Given the description of an element on the screen output the (x, y) to click on. 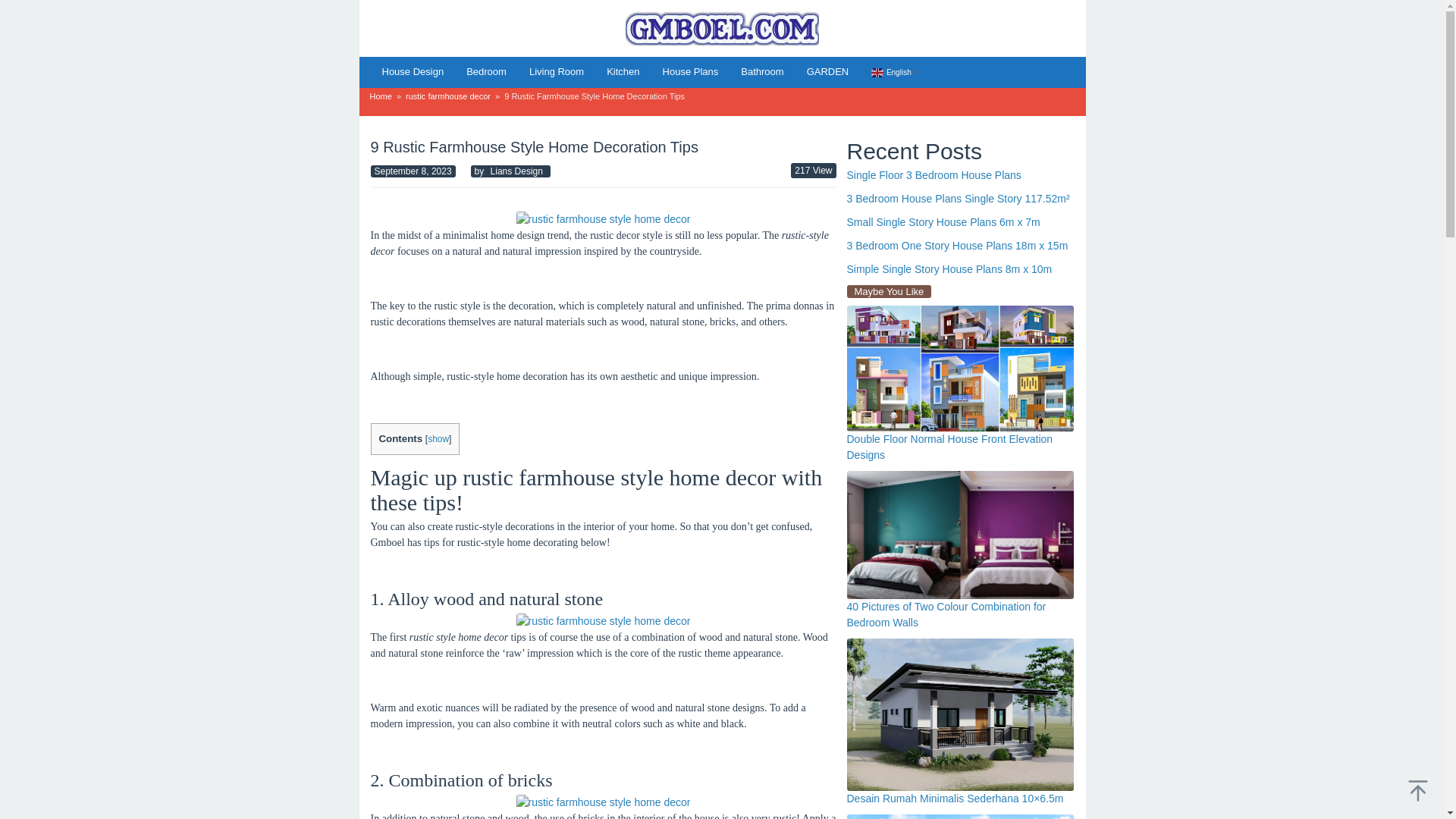
GMBOEL (722, 27)
Home (380, 95)
House Design (411, 71)
Bathroom (761, 71)
GARDEN (827, 71)
Lians Design (516, 171)
Living Room (556, 71)
rustic farmhouse style home decor (602, 621)
rustic farmhouse style home decor (602, 219)
House Plans (690, 71)
show (438, 439)
rustic farmhouse style home decor (602, 802)
Kitchen (622, 71)
GMBOEL (722, 28)
